Given the description of an element on the screen output the (x, y) to click on. 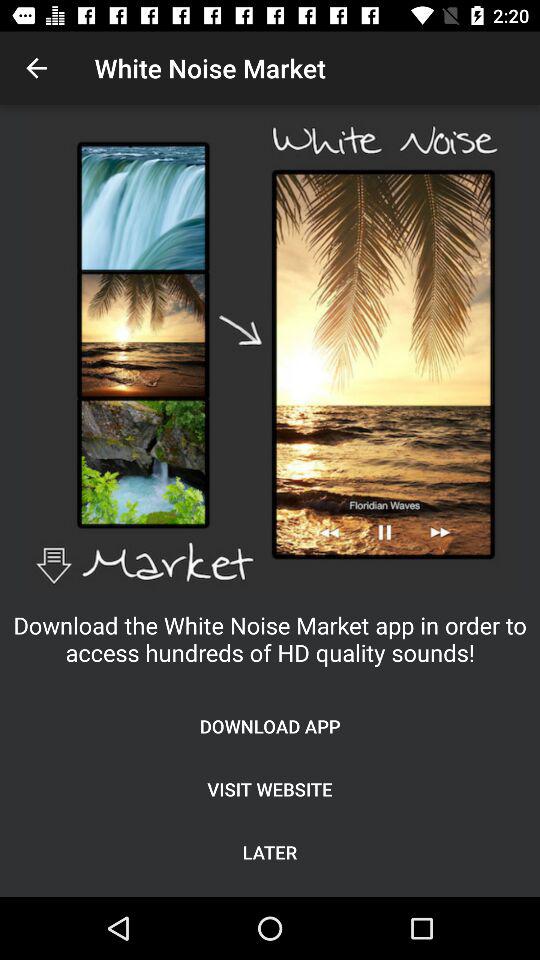
press item next to white noise market app (36, 68)
